Given the description of an element on the screen output the (x, y) to click on. 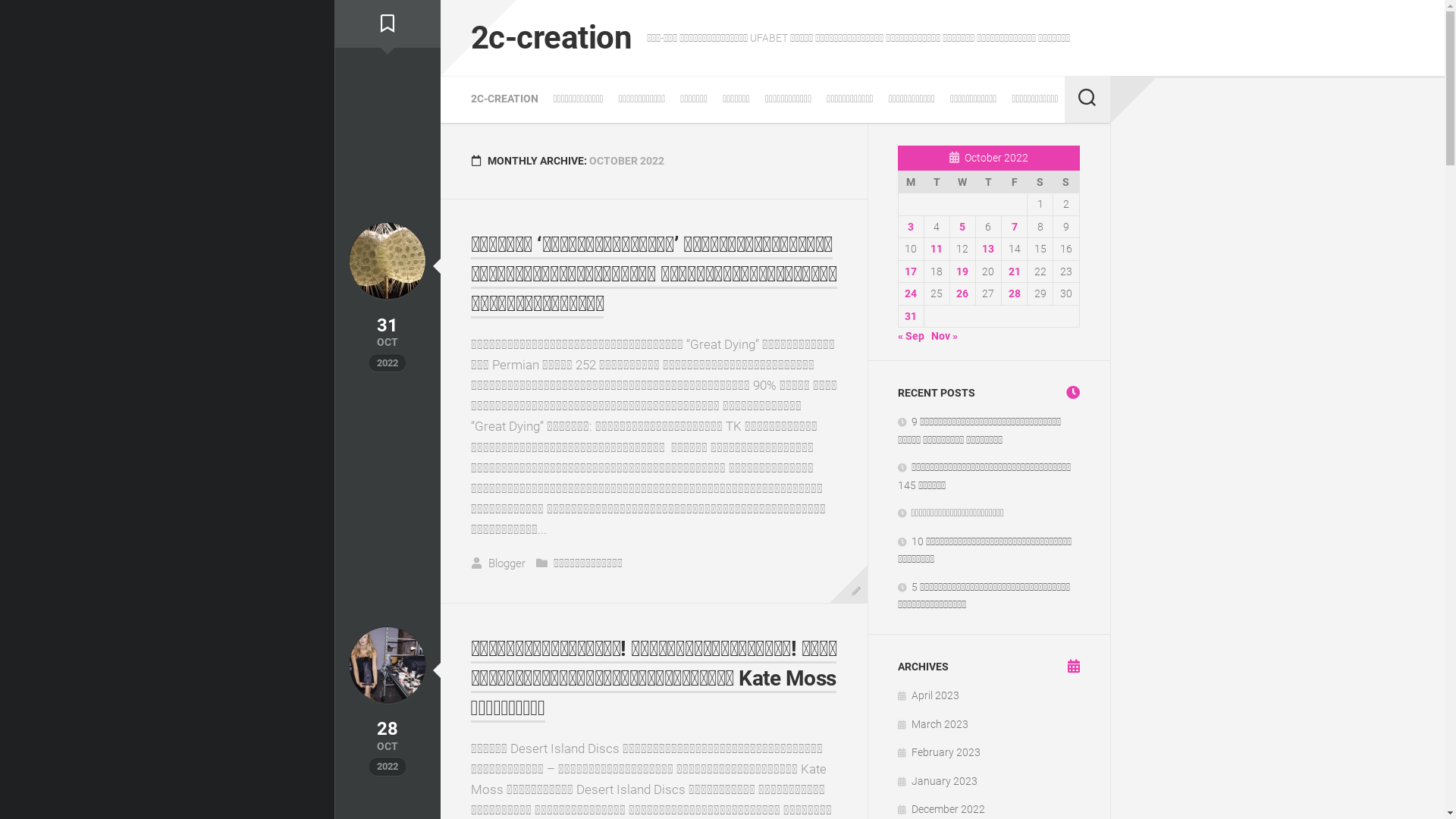
Blogger Element type: text (506, 563)
2C-CREATION Element type: text (503, 98)
13 Element type: text (988, 248)
7 Element type: text (1014, 225)
26 Element type: text (962, 293)
December 2022 Element type: text (941, 809)
February 2023 Element type: text (938, 752)
21 Element type: text (1014, 271)
5 Element type: text (962, 225)
28 Element type: text (1014, 293)
11 Element type: text (936, 248)
January 2023 Element type: text (937, 781)
2c-creation Element type: text (550, 37)
31 Element type: text (910, 315)
17 Element type: text (910, 271)
24 Element type: text (910, 293)
April 2023 Element type: text (928, 695)
19 Element type: text (962, 271)
3 Element type: text (910, 225)
March 2023 Element type: text (932, 723)
